Given the description of an element on the screen output the (x, y) to click on. 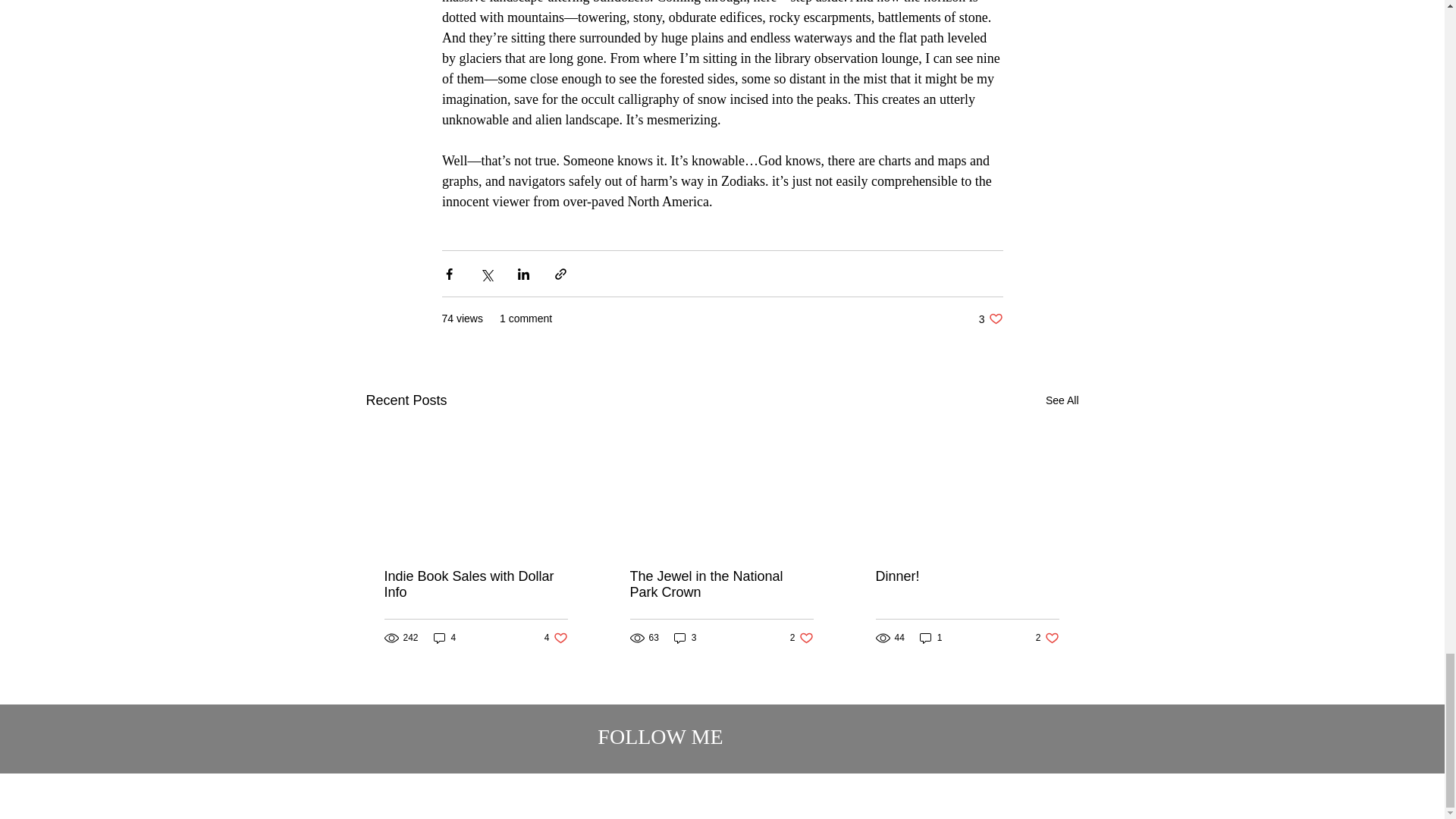
Indie Book Sales with Dollar Info (475, 584)
Wix.com (555, 637)
The Jewel in the National Park Crown (809, 747)
Dinner! (720, 584)
1 (966, 576)
See All (990, 318)
4 (1047, 637)
